Given the description of an element on the screen output the (x, y) to click on. 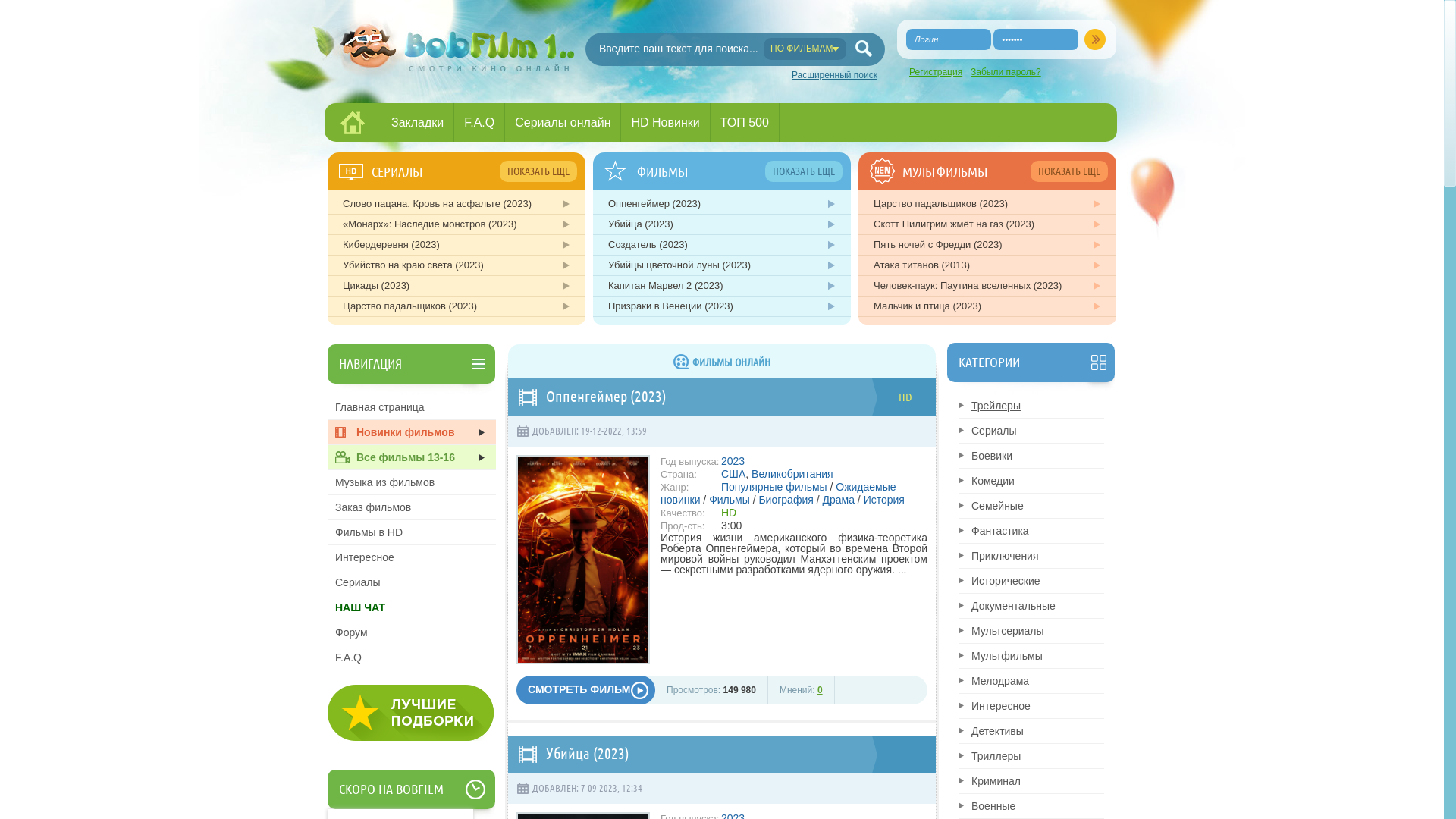
F.A.Q Element type: text (479, 122)
2023 Element type: text (732, 461)
0 Element type: text (819, 689)
F.A.Q Element type: text (411, 657)
